Given the description of an element on the screen output the (x, y) to click on. 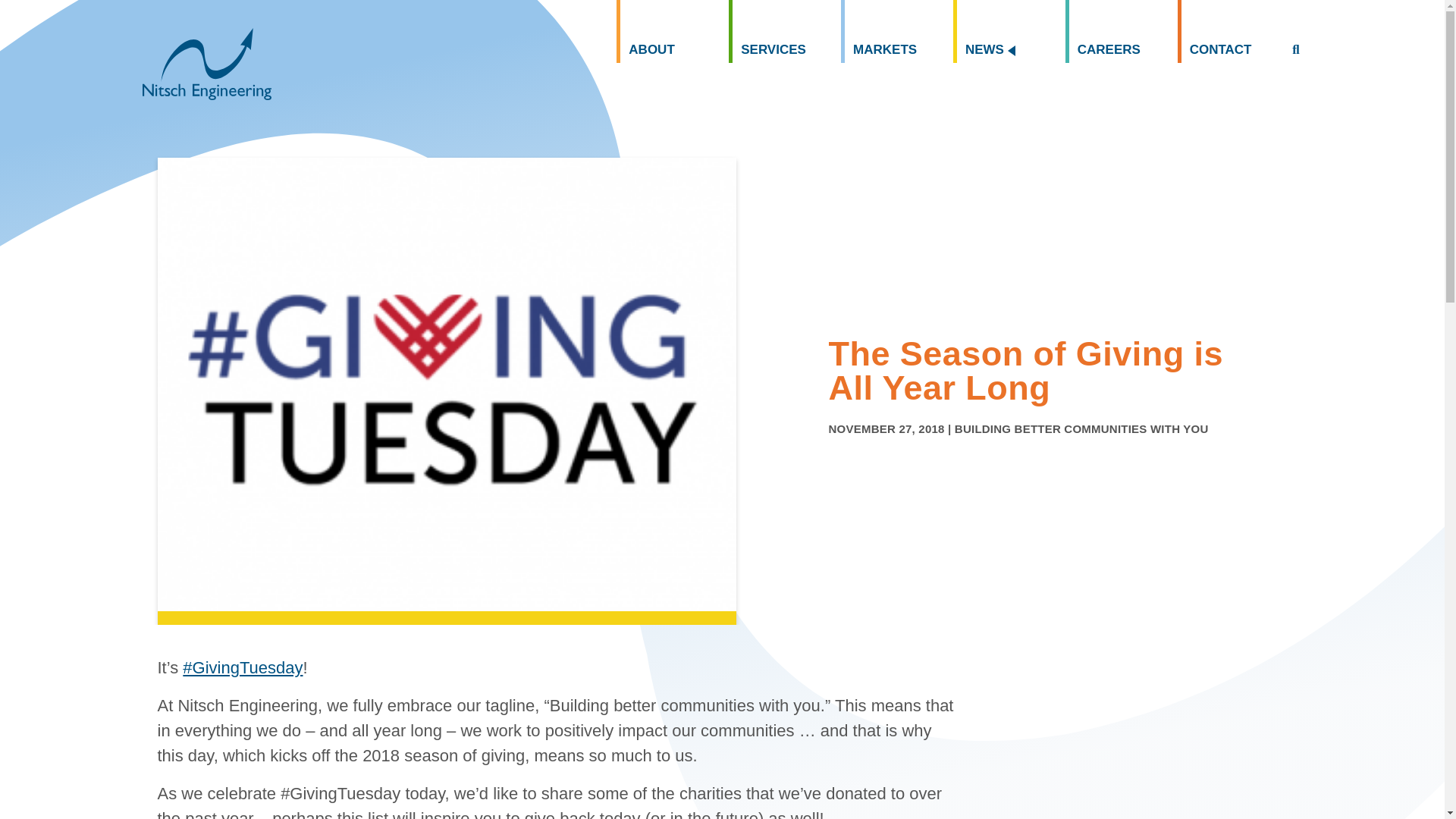
CAREERS (1121, 31)
Skip Navigation (47, 1)
SERVICES (785, 31)
NEWS (1009, 31)
MARKETS (897, 31)
ABOUT (672, 31)
